Given the description of an element on the screen output the (x, y) to click on. 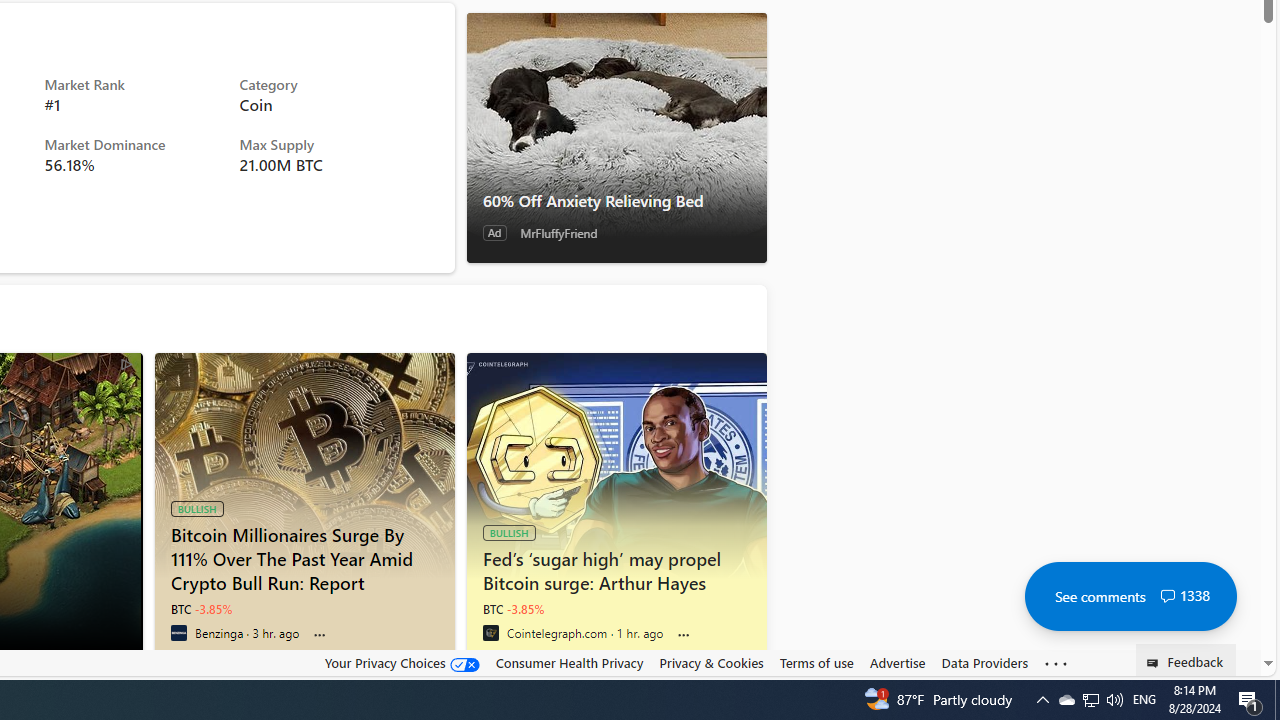
Data Providers (983, 662)
